Given the description of an element on the screen output the (x, y) to click on. 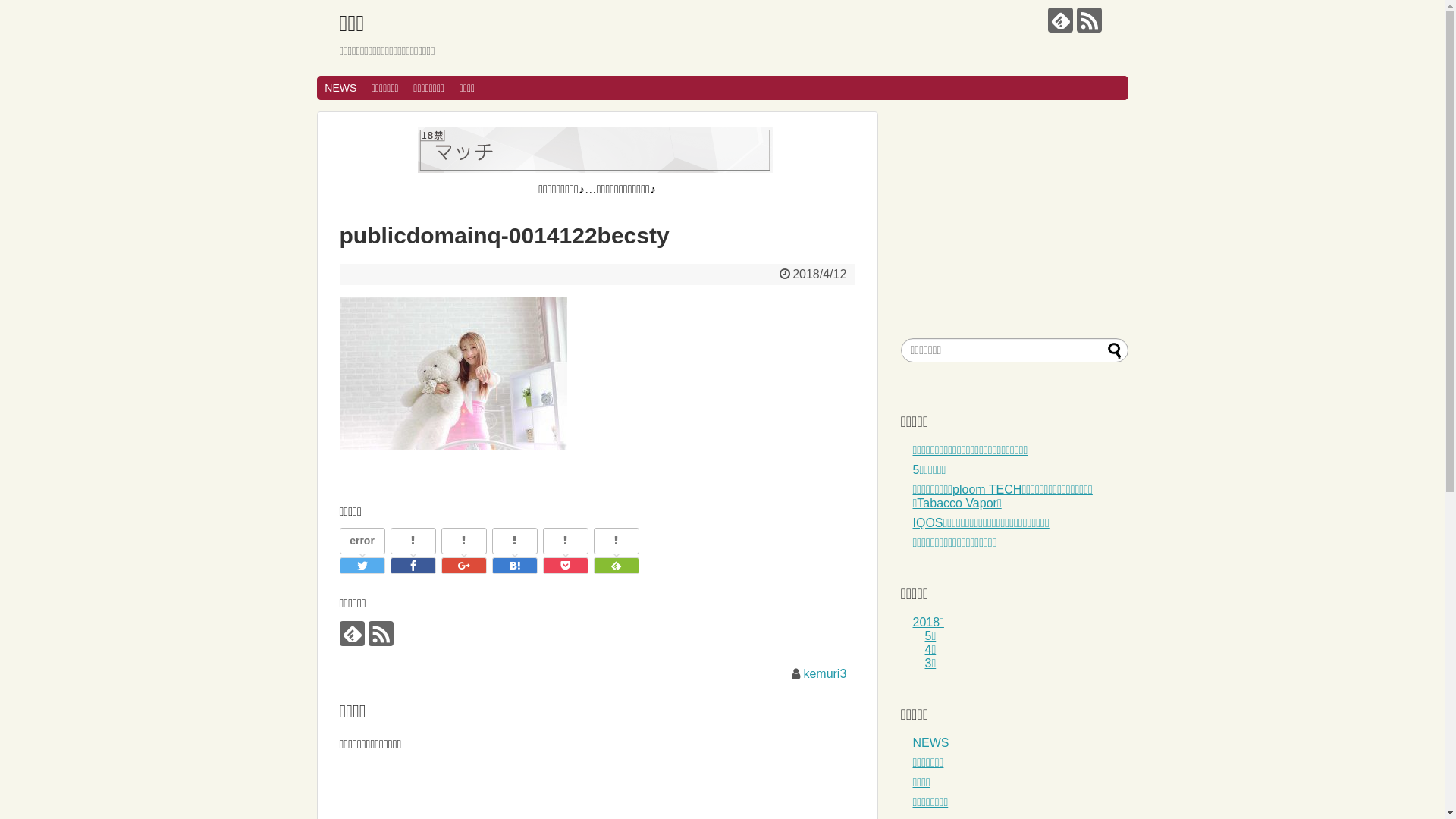
publicdomainq-0014122becsty Element type: hover (513, 565)
NEWS Element type: text (340, 87)
NEWS Element type: text (931, 742)
error Element type: text (361, 540)
kemuri3 Element type: text (824, 673)
